Given the description of an element on the screen output the (x, y) to click on. 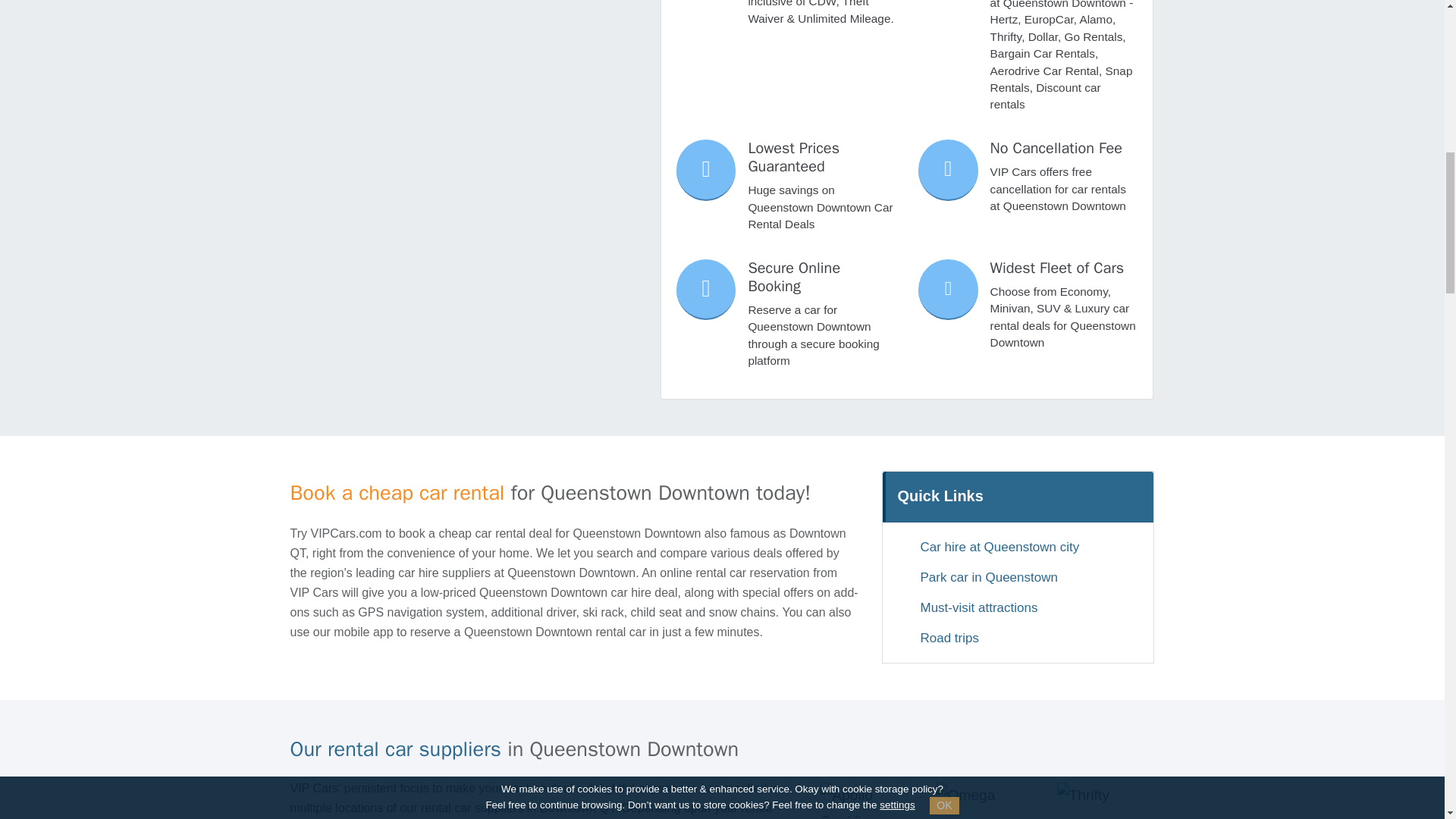
Park car in Queenstown (1018, 577)
Road trips (1018, 637)
Car hire at Queenstown city (1018, 546)
Must-visit attractions (1018, 607)
